Given the description of an element on the screen output the (x, y) to click on. 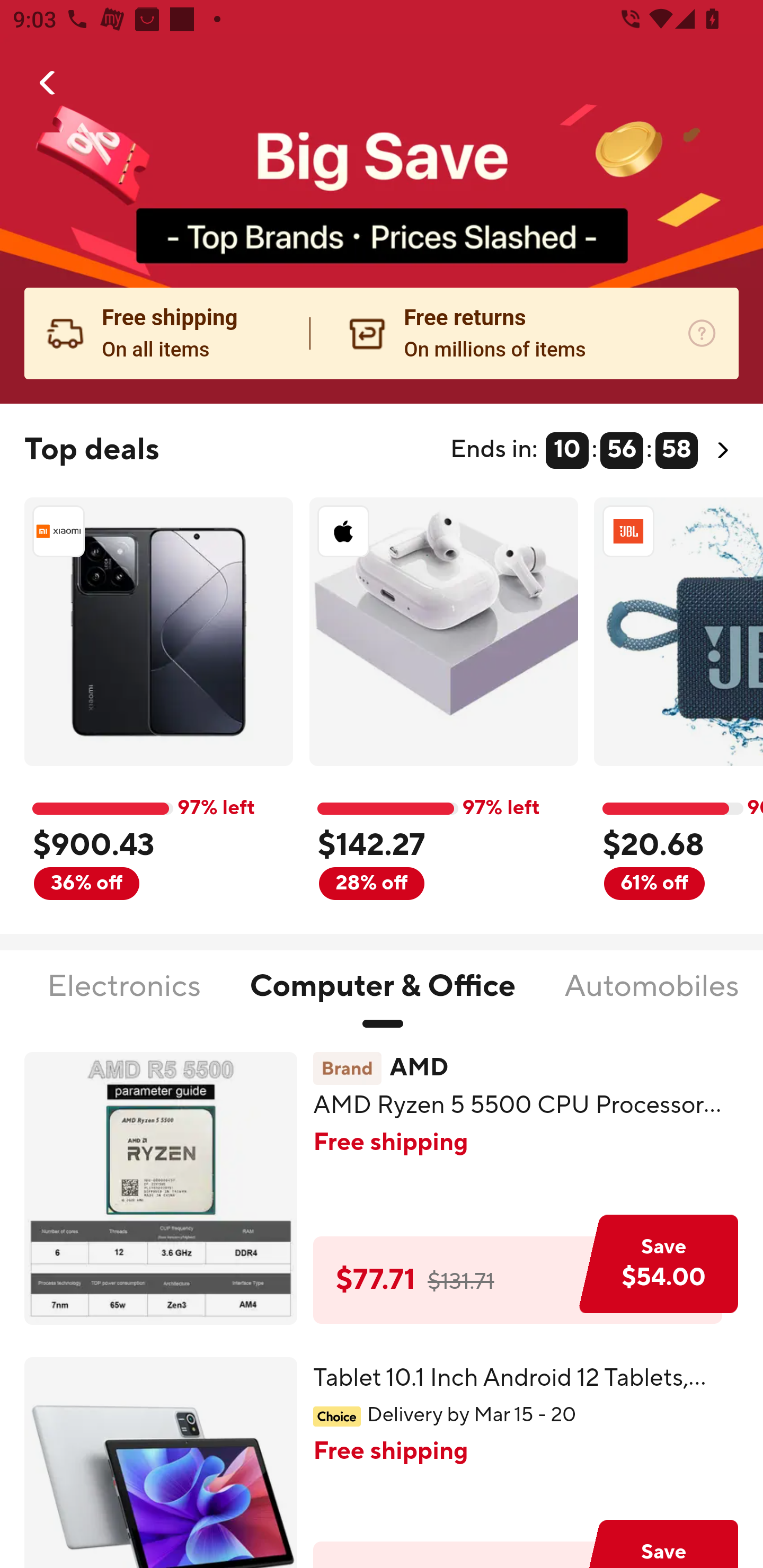
 (48, 82)
Electronics (123, 996)
Computer & Office (382, 996)
Automobiles (651, 996)
